Given the description of an element on the screen output the (x, y) to click on. 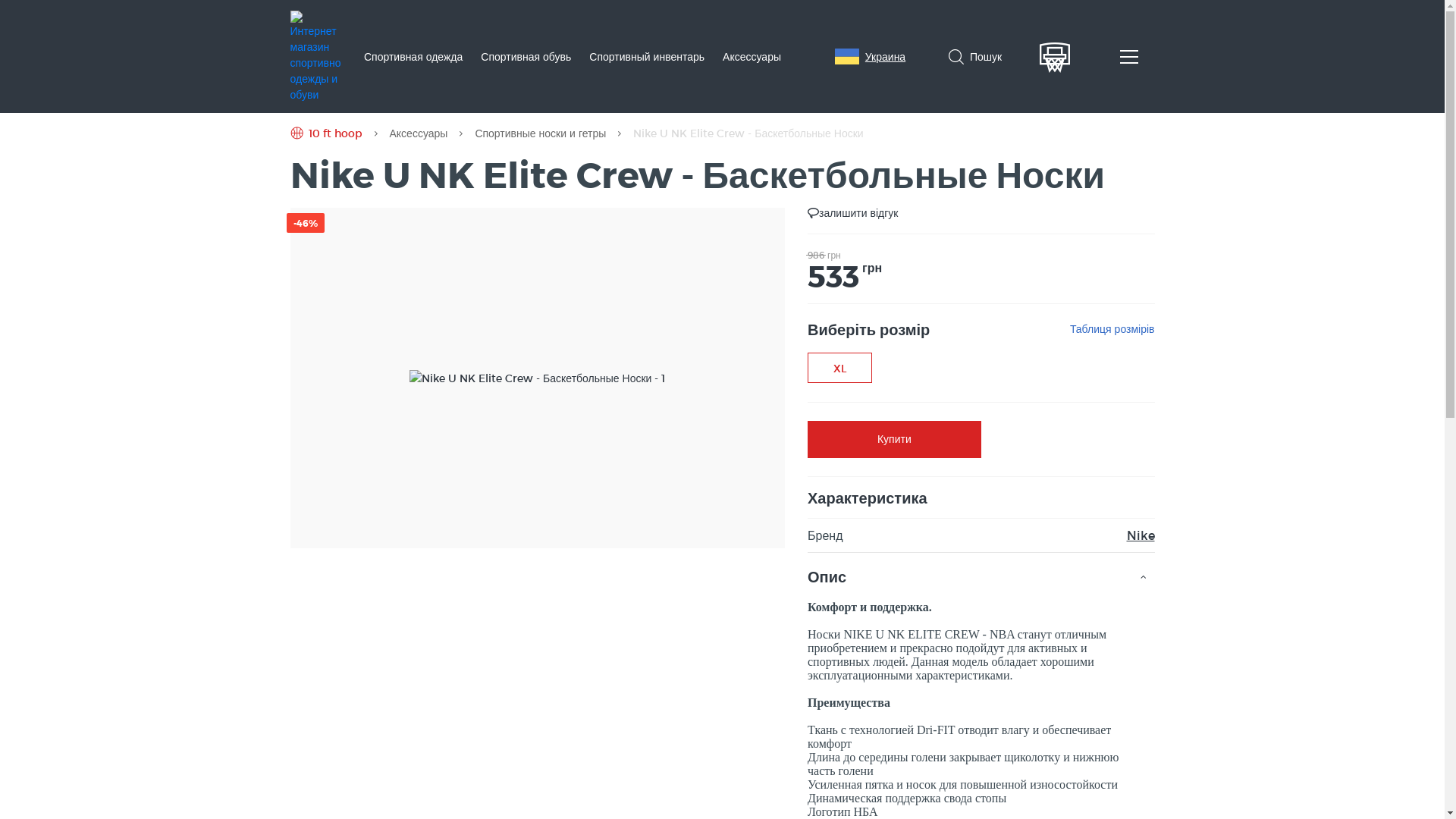
10 ft hoop Element type: text (325, 132)
Nike Element type: text (1140, 534)
10 ft hoop Element type: hover (315, 54)
